Given the description of an element on the screen output the (x, y) to click on. 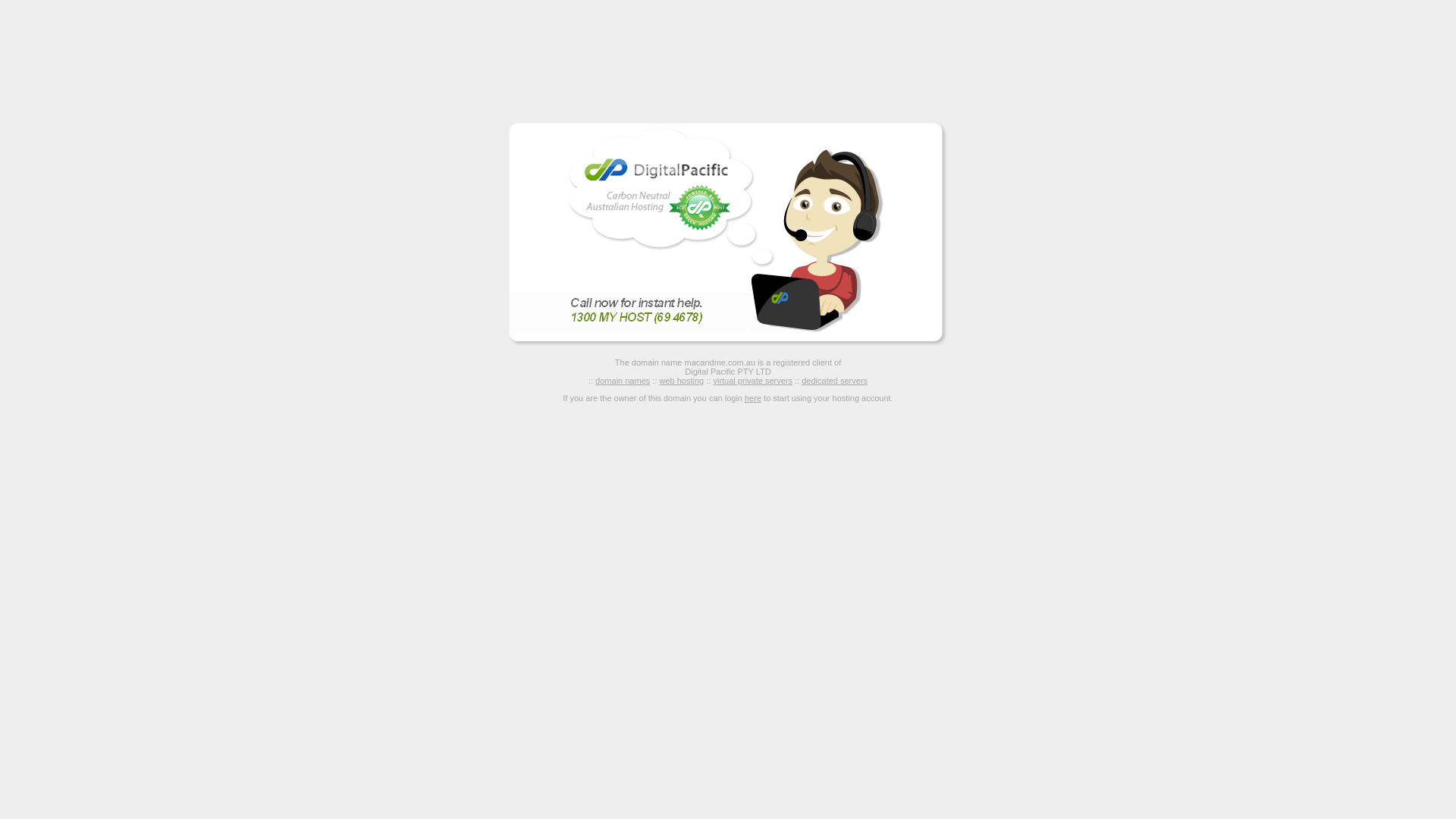
virtual private servers Element type: text (752, 380)
web hosting Element type: text (681, 380)
domain names Element type: text (622, 380)
here Element type: text (752, 397)
dedicated servers Element type: text (834, 380)
